Given the description of an element on the screen output the (x, y) to click on. 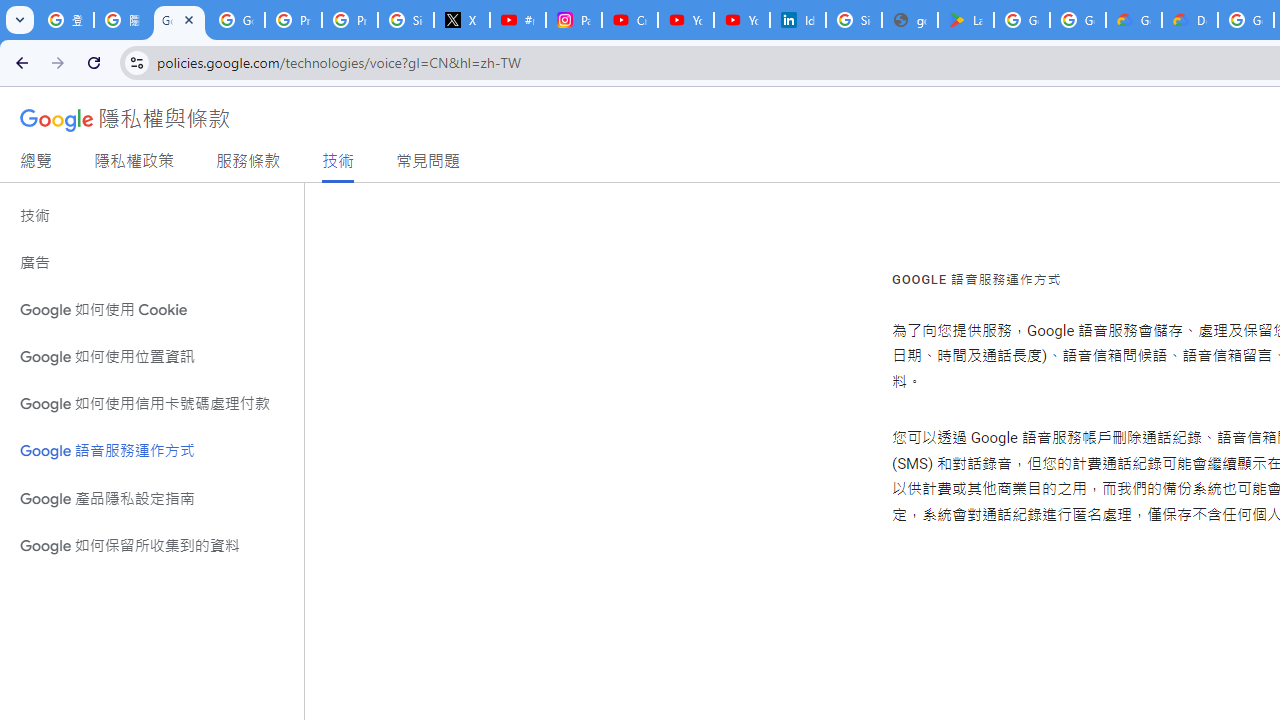
#nbabasketballhighlights - YouTube (518, 20)
Google Workspace - Specific Terms (1077, 20)
Sign in - Google Accounts (405, 20)
X (461, 20)
